Given the description of an element on the screen output the (x, y) to click on. 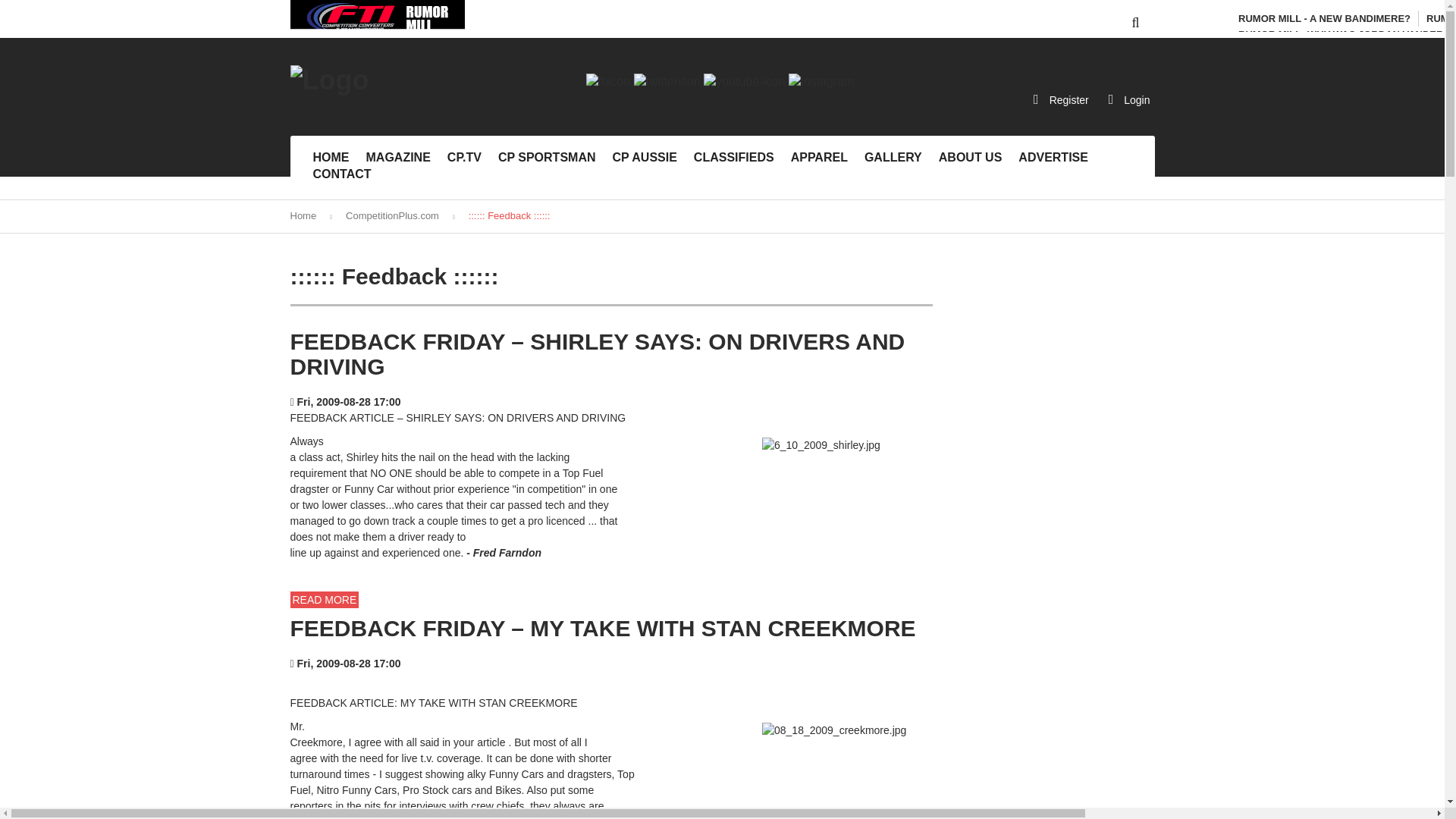
RUMOR MILL - A NEW BANDIMERE? (1324, 18)
GALLERY (893, 158)
Home (302, 215)
YouTube (744, 80)
CompetitionPlus.com (392, 215)
Login (1128, 98)
Register (1061, 98)
ABOUT US (970, 158)
CONTACT (341, 174)
CP AUSSIE (644, 158)
